Given the description of an element on the screen output the (x, y) to click on. 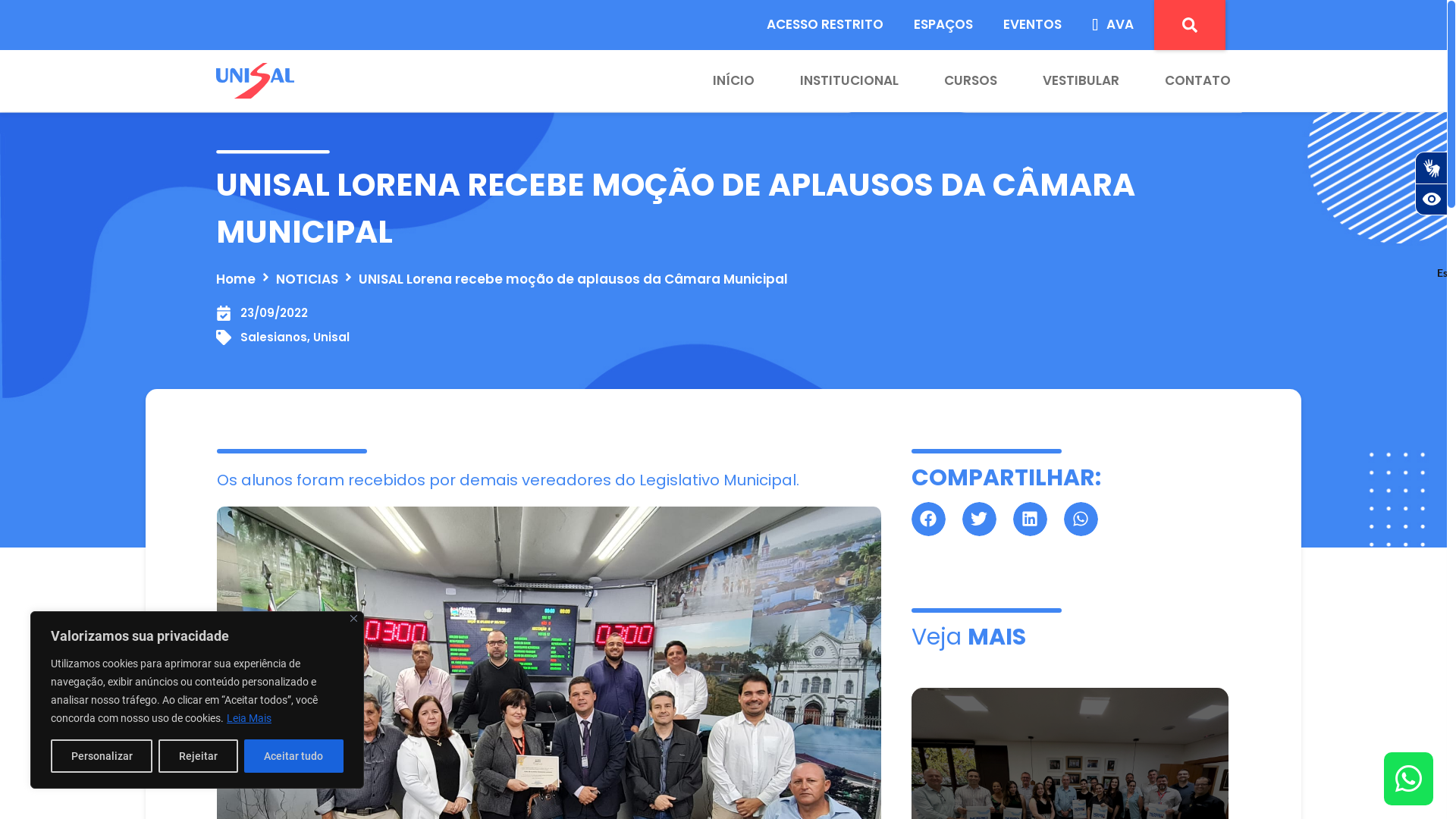
CURSOS Element type: text (947, 81)
EVENTOS Element type: text (1032, 24)
ACESSO RESTRITO Element type: text (824, 24)
VESTIBULAR Element type: text (1058, 81)
Personalizar Element type: text (101, 755)
INSTITUCIONAL Element type: text (826, 81)
Aceitar tudo Element type: text (293, 755)
NOTICIAS Element type: text (307, 279)
Rejeitar Element type: text (197, 755)
AVA Element type: text (1112, 24)
Leia Mais Element type: text (248, 717)
Home Element type: text (235, 279)
CONTATO Element type: text (1174, 81)
